Given the description of an element on the screen output the (x, y) to click on. 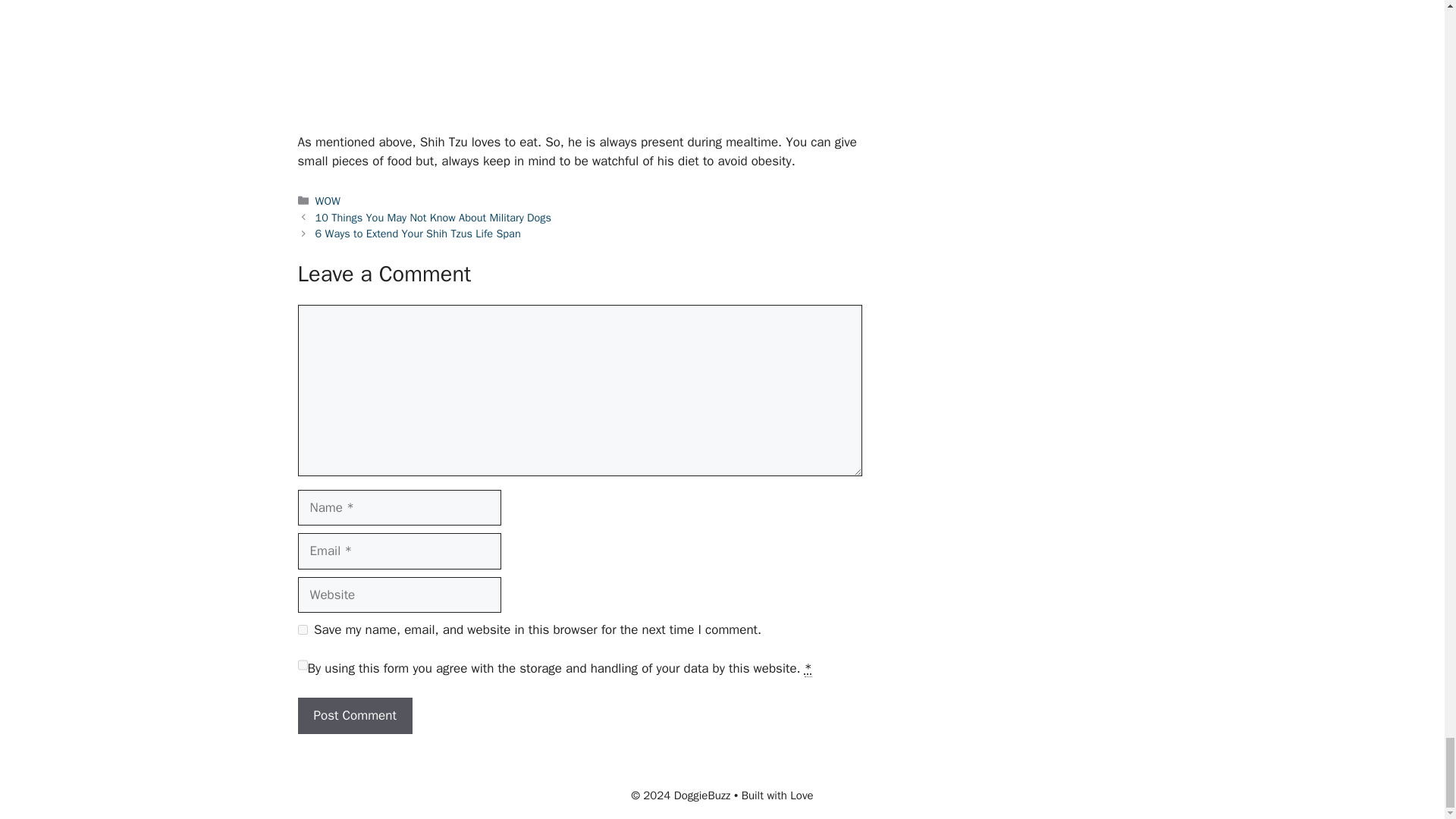
6 Ways to Extend Your Shih Tzus Life Span (418, 233)
Post Comment (354, 715)
WOW (327, 201)
10 Things ONLY Shih Tzu Dog Owners will Understand 10 (579, 56)
Post Comment (354, 715)
yes (302, 629)
10 Things You May Not Know About Military Dogs (433, 217)
